Given the description of an element on the screen output the (x, y) to click on. 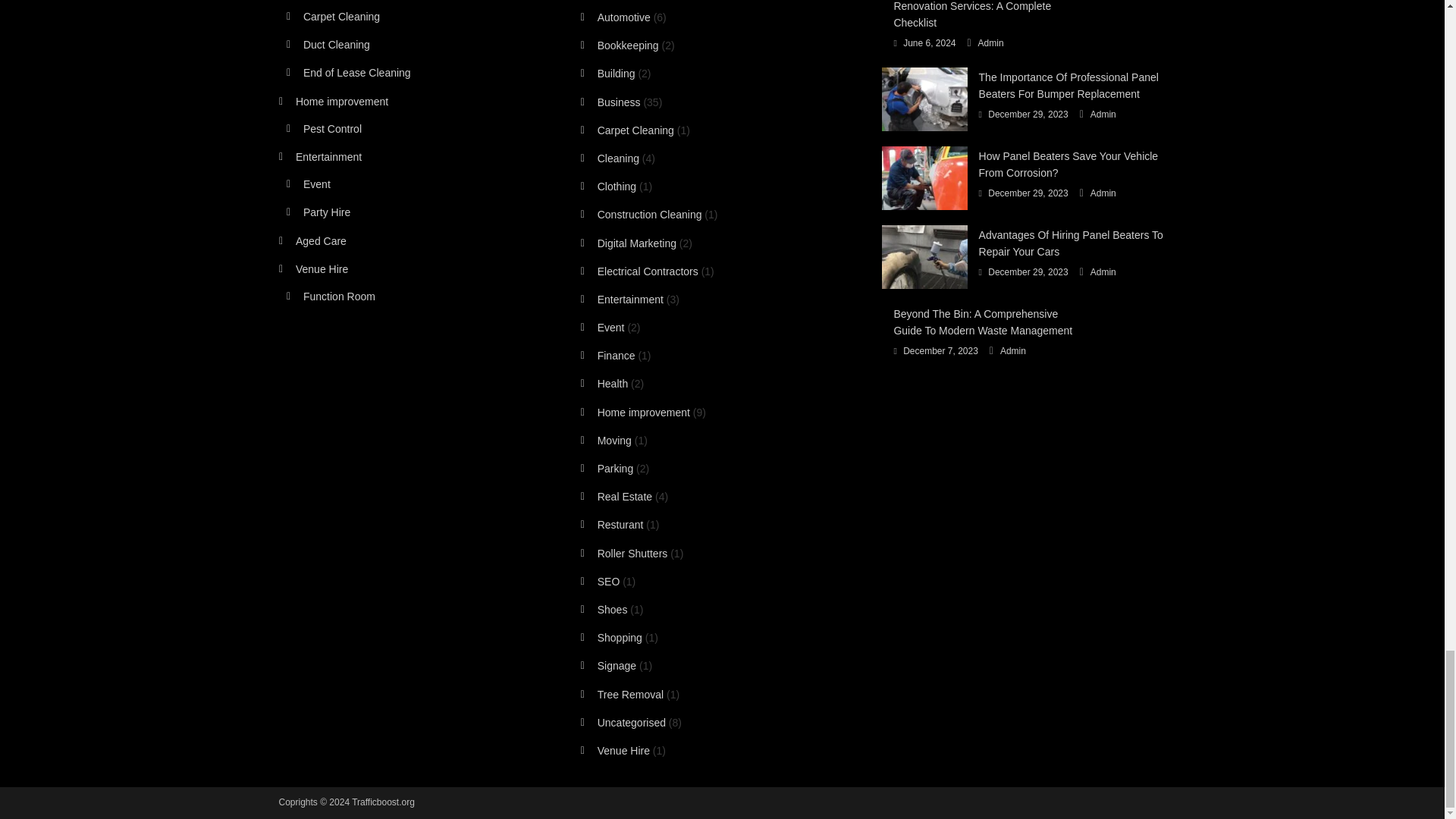
Automotive (615, 17)
Digital Marketing (628, 243)
Sample category description goes here (603, 383)
Sample category description goes here (610, 102)
Clothing (608, 186)
Home improvement (635, 412)
